Given the description of an element on the screen output the (x, y) to click on. 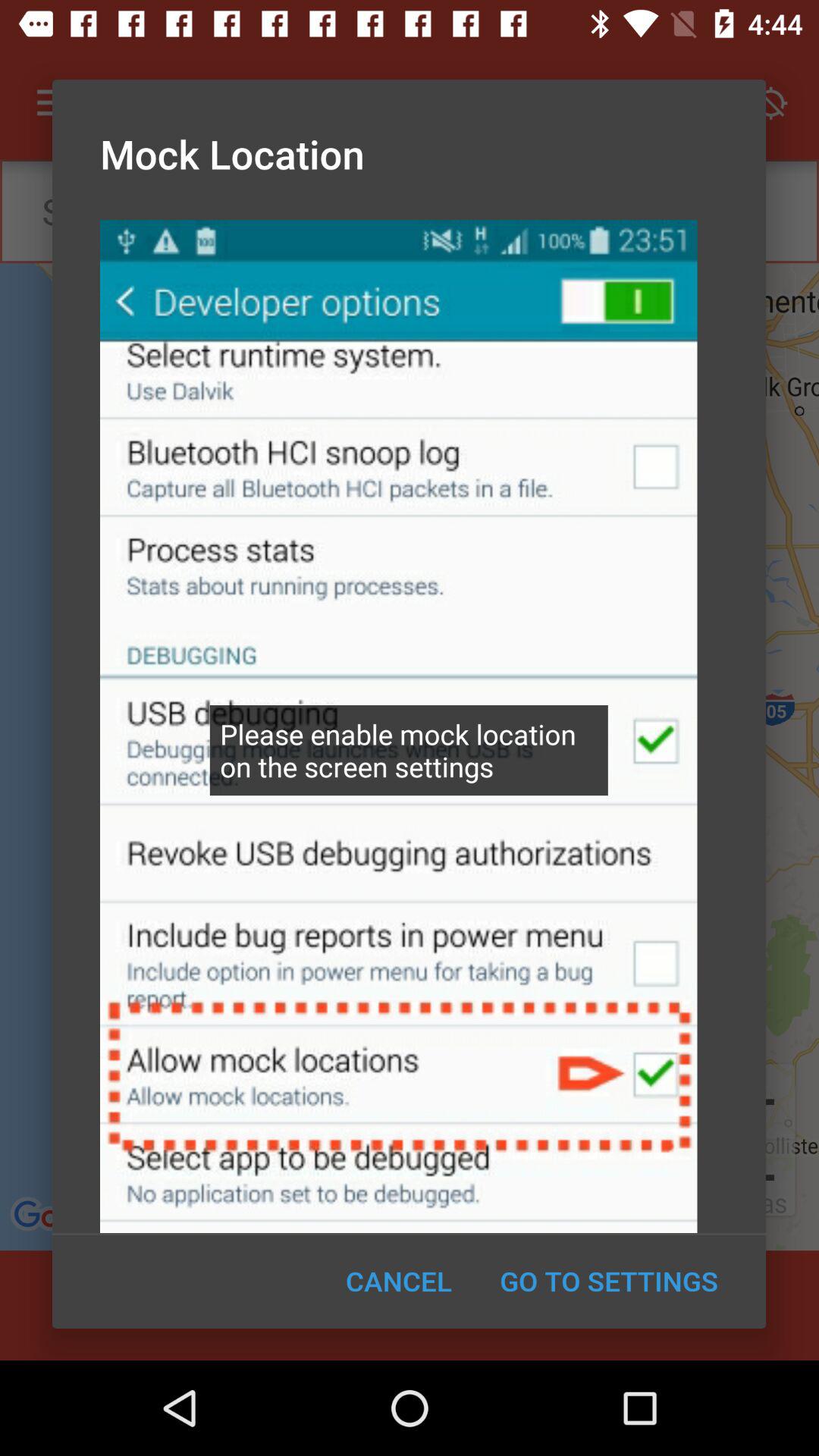
turn on the item next to the go to settings item (398, 1280)
